Given the description of an element on the screen output the (x, y) to click on. 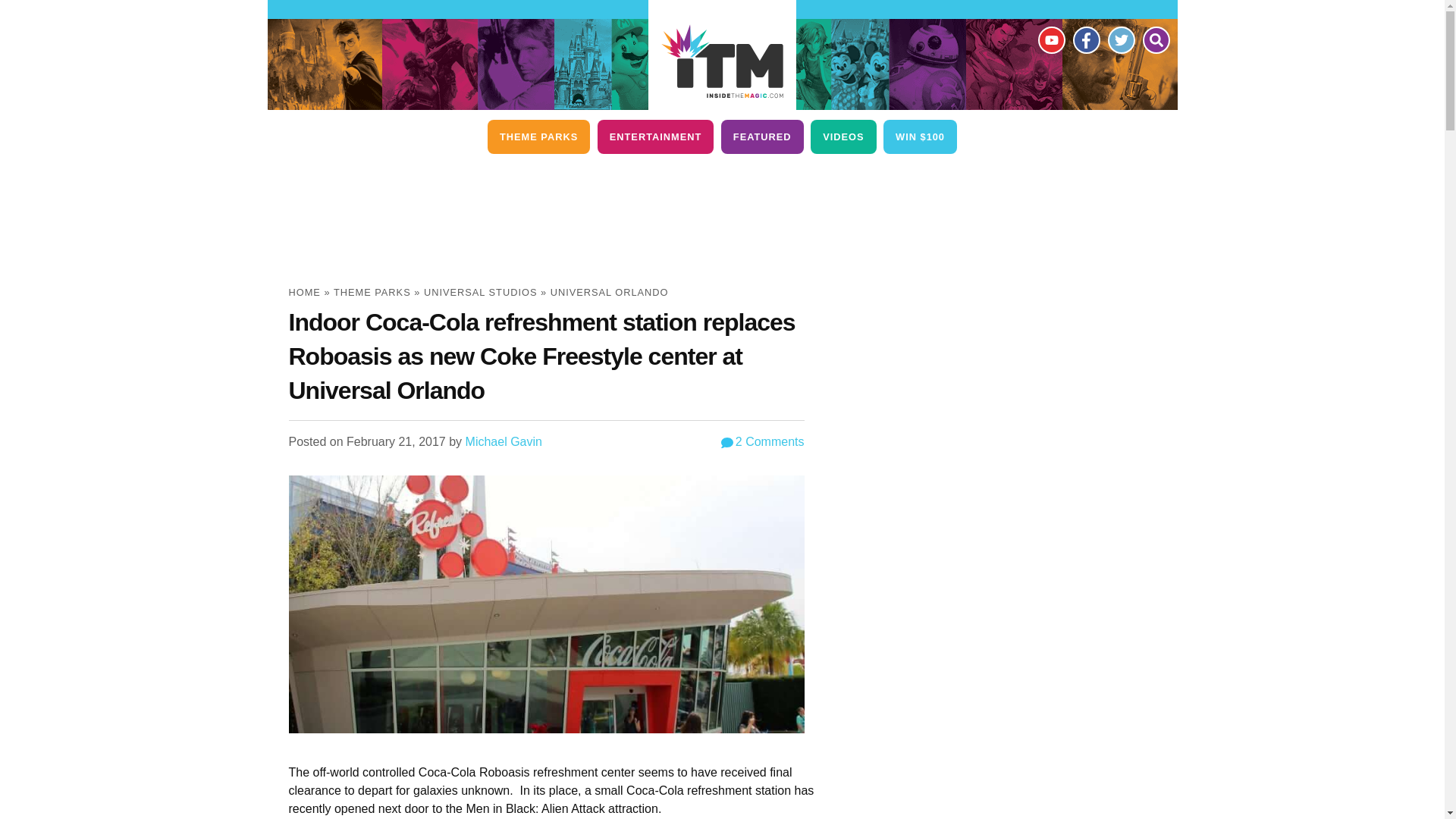
Search (1155, 40)
YouTube (1050, 40)
Facebook (1085, 40)
Twitter (1120, 40)
THEME PARKS (538, 136)
FEATURED (761, 136)
ENTERTAINMENT (655, 136)
